Given the description of an element on the screen output the (x, y) to click on. 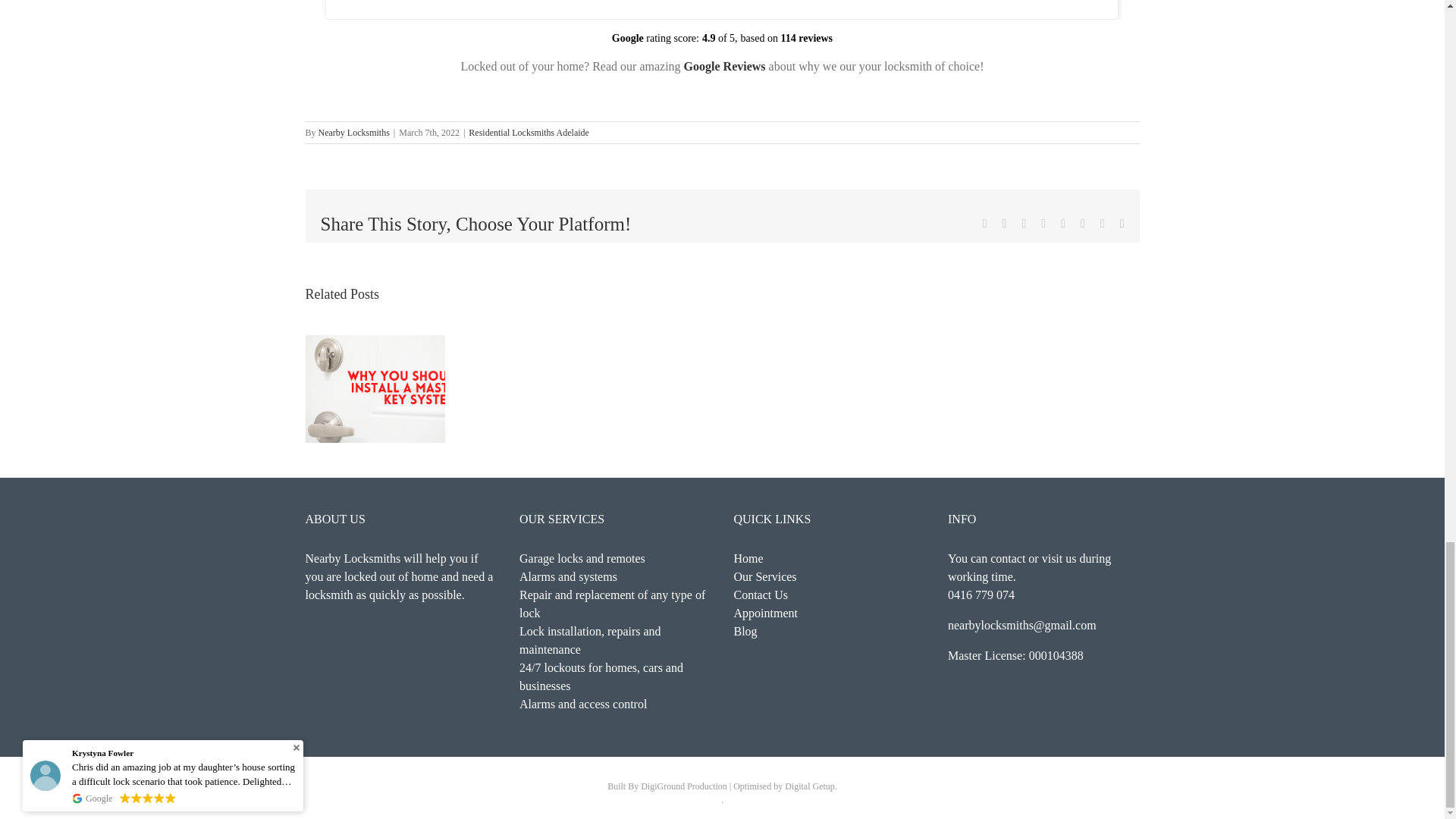
Posts by Nearby Locksmiths (354, 132)
